Given the description of an element on the screen output the (x, y) to click on. 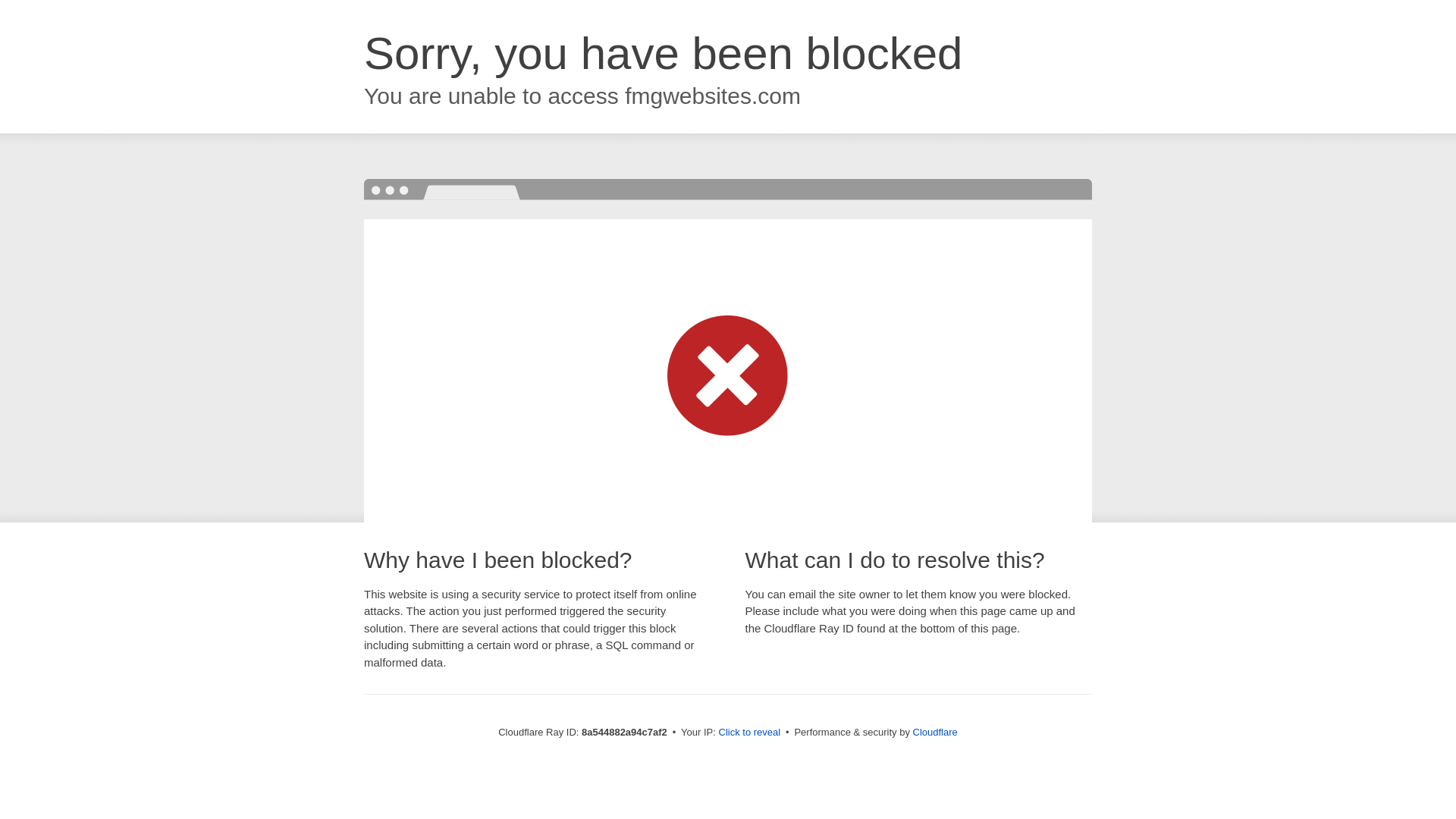
Click to reveal (749, 732)
Cloudflare (935, 731)
